Given the description of an element on the screen output the (x, y) to click on. 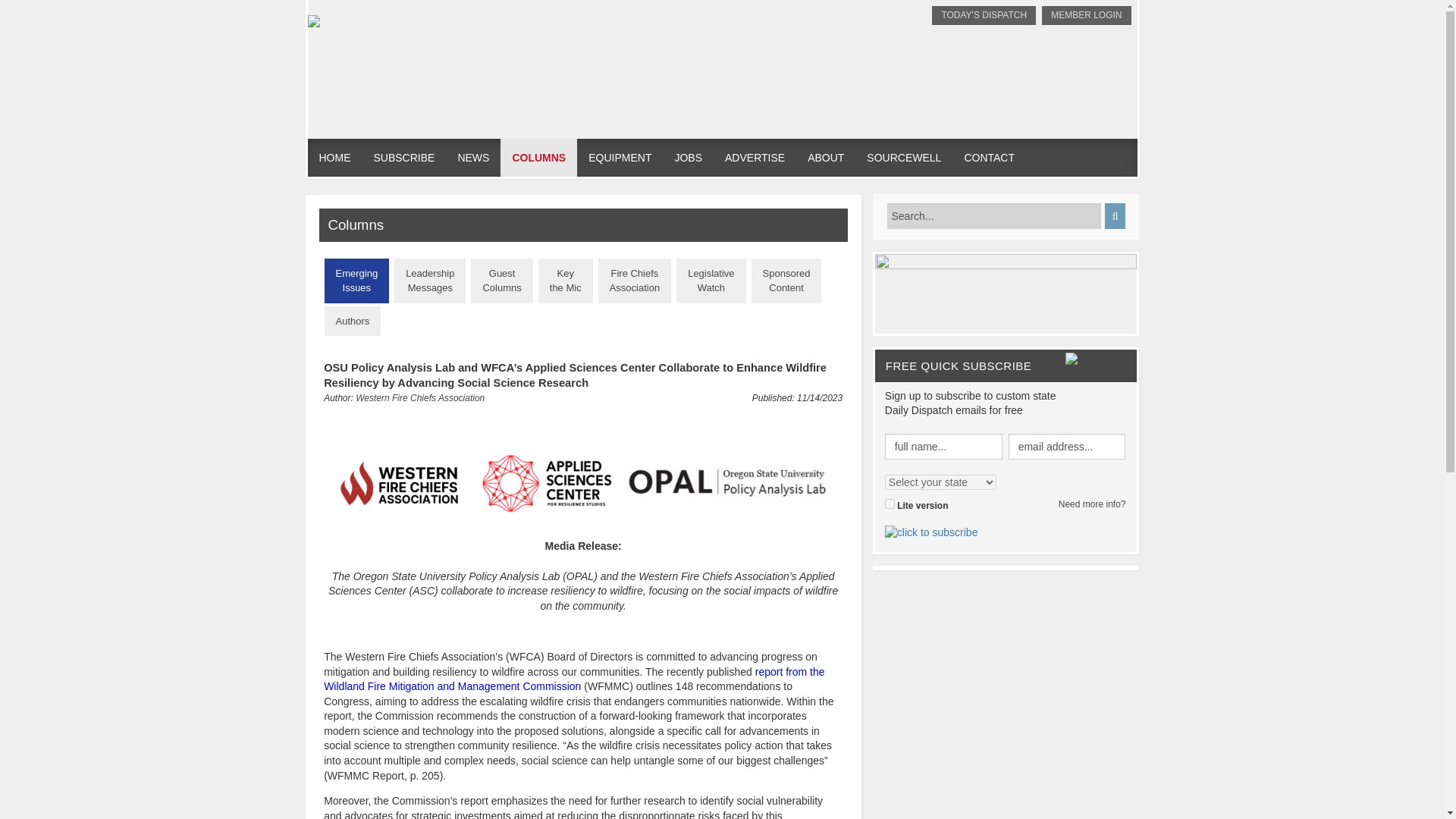
ABOUT (634, 280)
Western Fire Chiefs Association (826, 157)
SOURCEWELL (419, 398)
Search... (904, 157)
email address... (994, 216)
Need more info? (1067, 446)
on (1091, 503)
MEMBER LOGIN (890, 503)
TODAY'S DISPATCH (1086, 15)
enter email address here (983, 15)
ADVERTISE (1067, 446)
EQUIPMENT (754, 157)
full name... (619, 157)
